Given the description of an element on the screen output the (x, y) to click on. 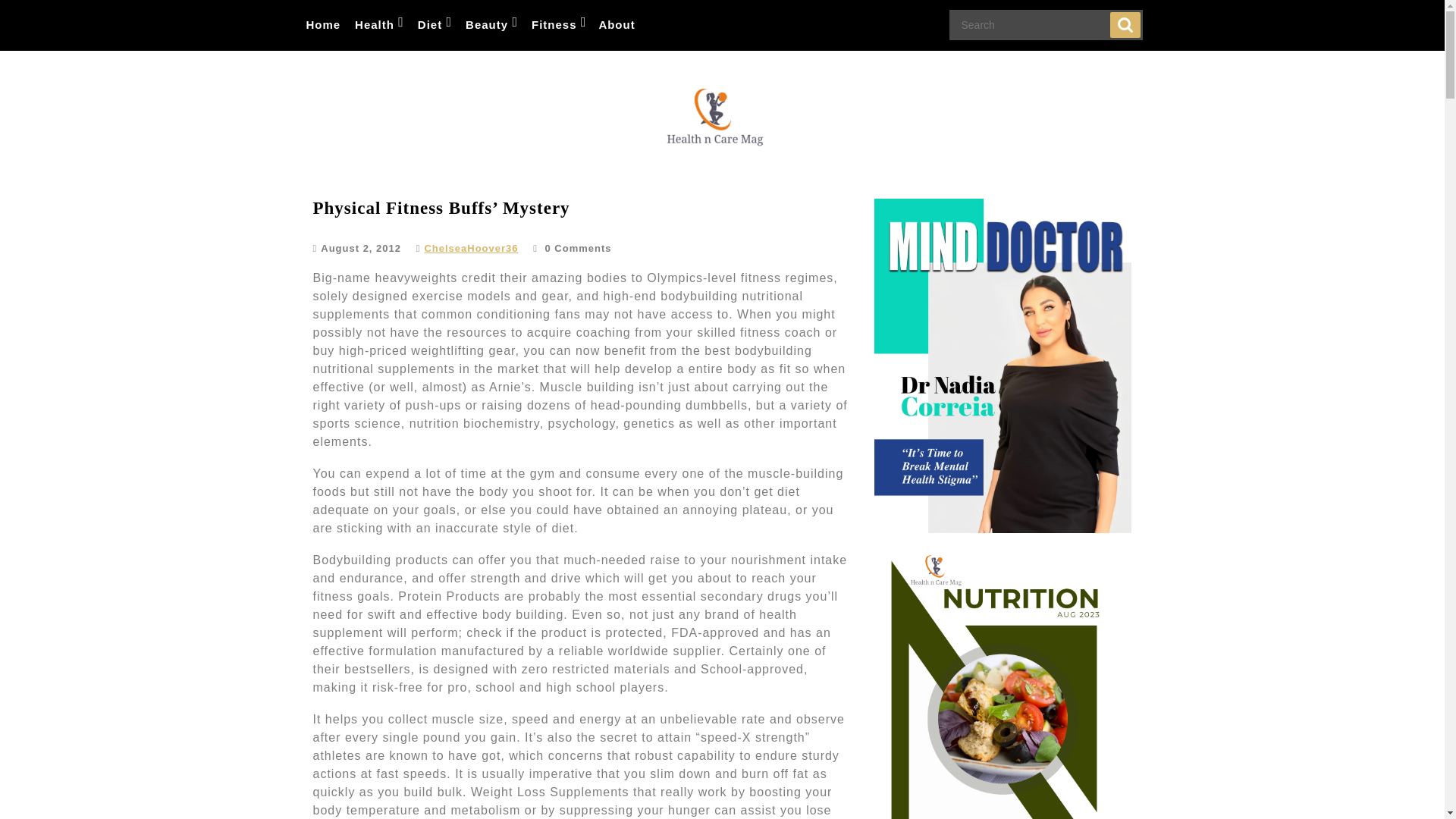
Our Magazine Aug Edition (1002, 685)
Diet (433, 25)
Fitness (558, 25)
About (616, 25)
Home (323, 25)
ChelseaHoover36 (470, 247)
Health (378, 25)
Beauty (490, 25)
Search (1124, 24)
